Given the description of an element on the screen output the (x, y) to click on. 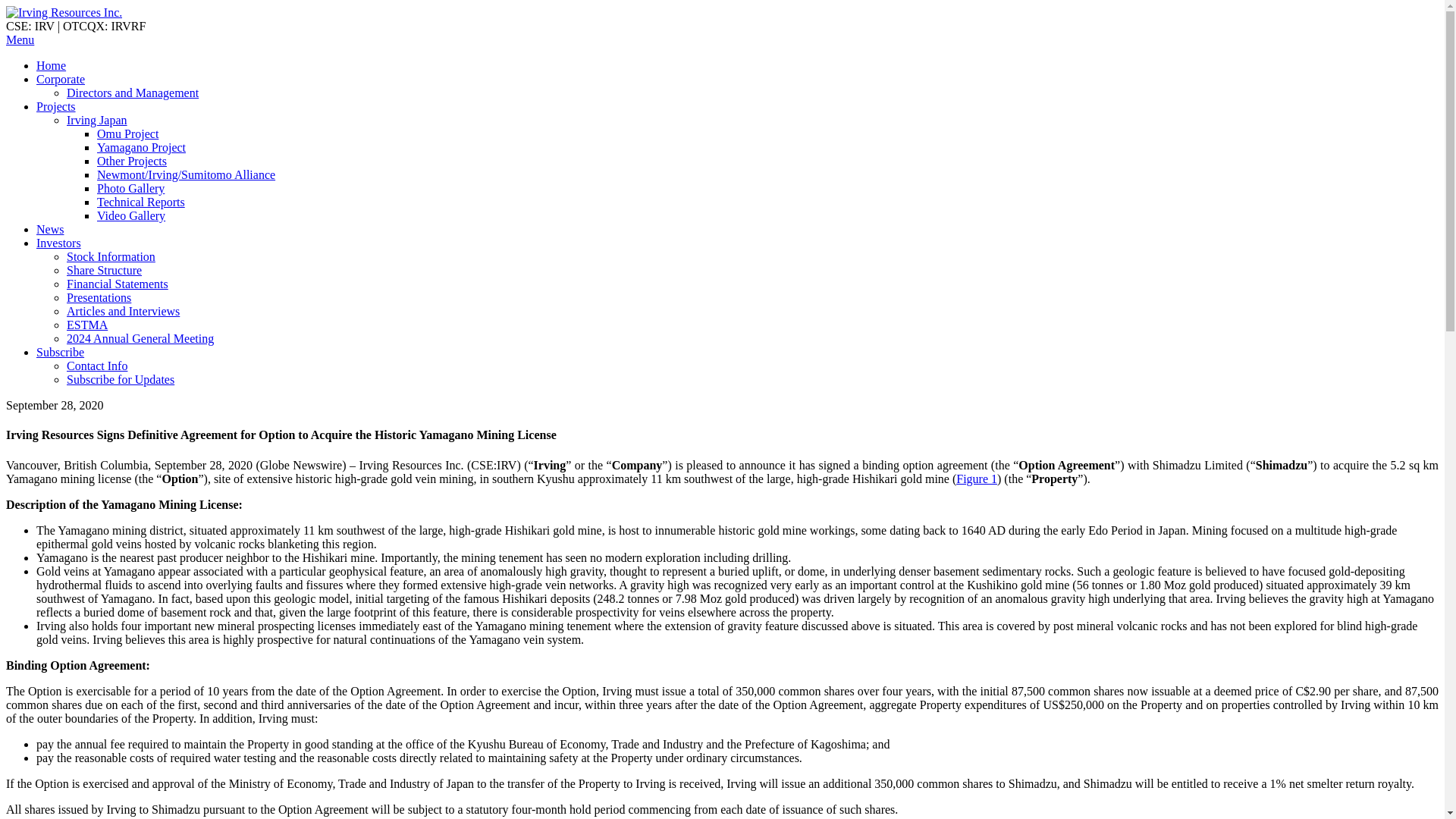
Directors and Management (132, 92)
Share Structure (103, 269)
News (50, 228)
Subscribe (60, 351)
Articles and Interviews (122, 310)
Presentations (98, 297)
Contact Info (97, 365)
Investors (58, 242)
Corporate (60, 78)
Photo Gallery (130, 187)
Other Projects (132, 160)
Video Gallery (131, 215)
Figure 1 (976, 478)
Menu (19, 39)
Subscribe for Updates (120, 379)
